Given the description of an element on the screen output the (x, y) to click on. 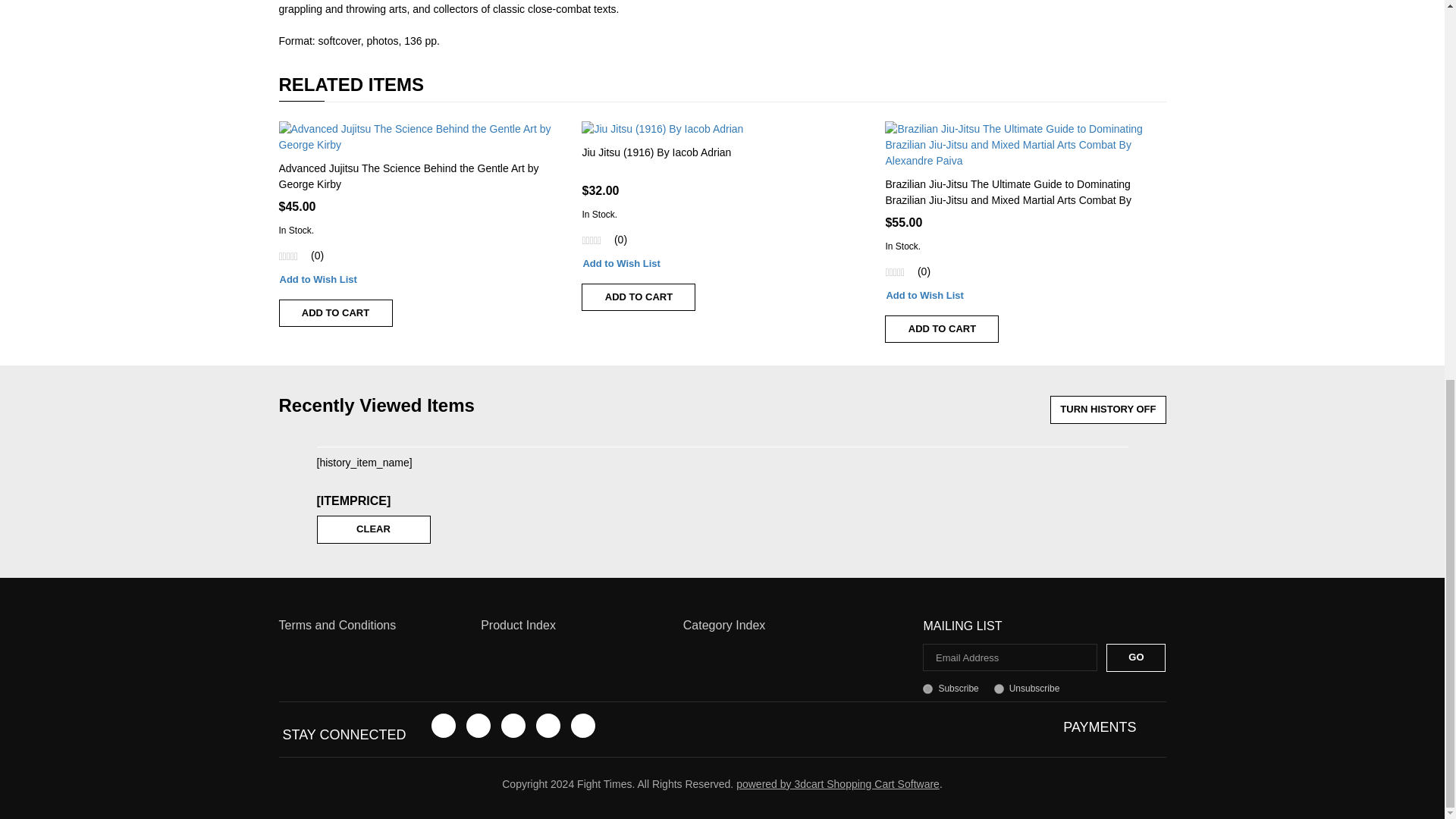
0 (999, 688)
Subscribe to our Channel (512, 725)
Follow Us on Instagram (582, 725)
Like Us on Facebook (442, 725)
1 (928, 688)
Follow Us on Pinterest (547, 725)
Follow Us on Twitter (477, 725)
